Given the description of an element on the screen output the (x, y) to click on. 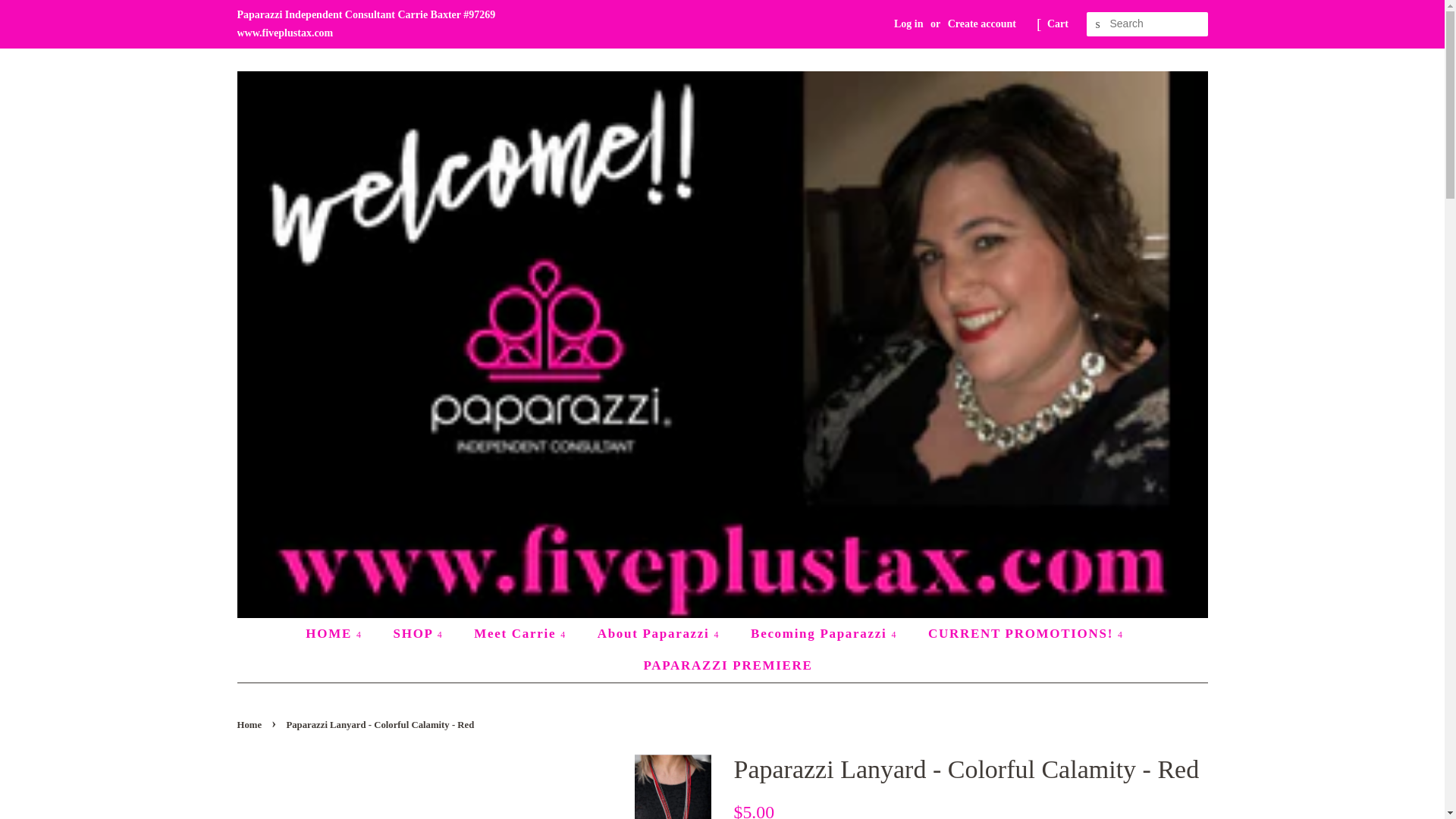
Back to the frontpage (249, 724)
Search (1097, 24)
Create account (981, 23)
Log in (908, 23)
Cart (1057, 24)
